Given the description of an element on the screen output the (x, y) to click on. 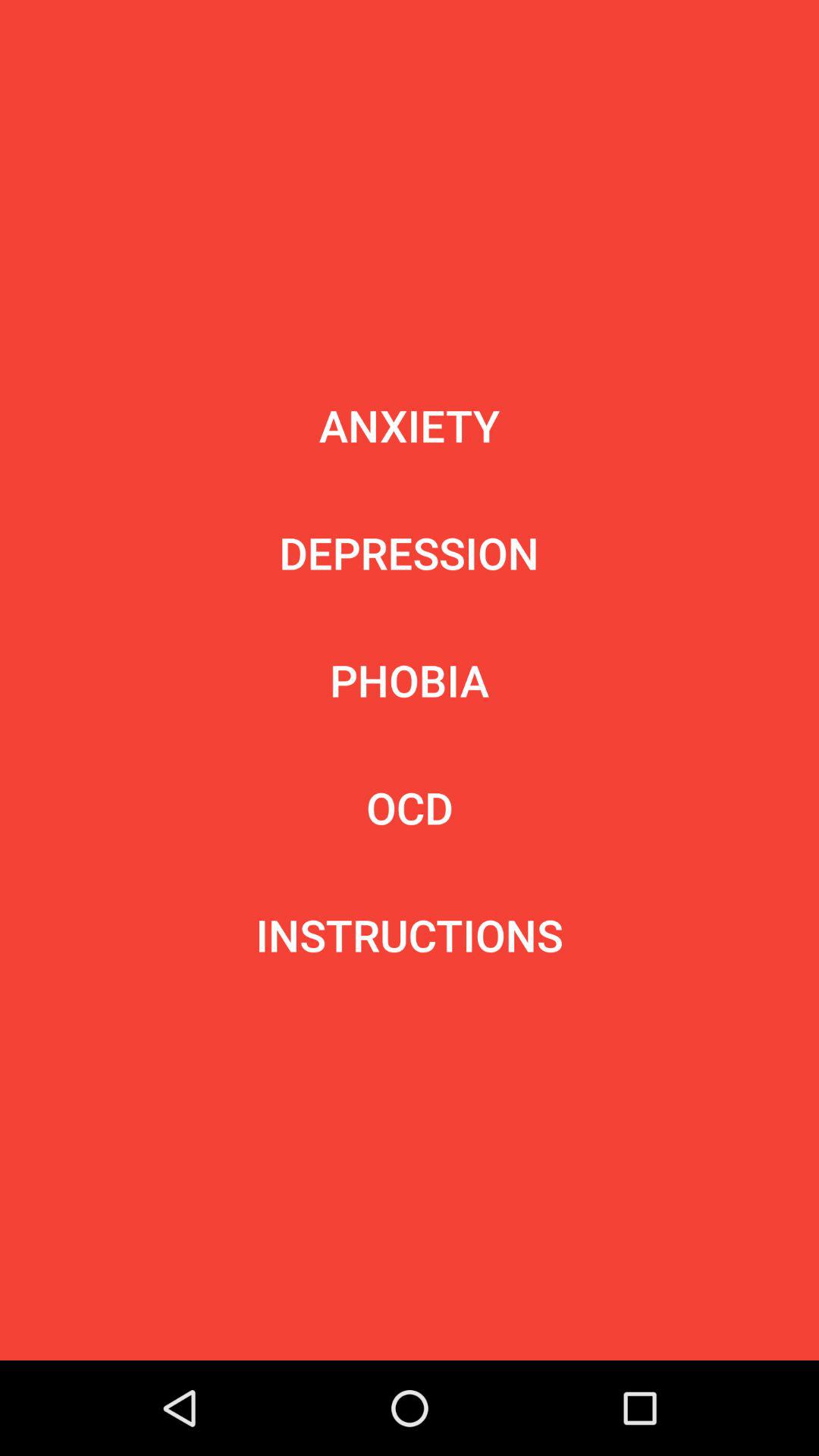
turn off item above phobia icon (409, 552)
